Given the description of an element on the screen output the (x, y) to click on. 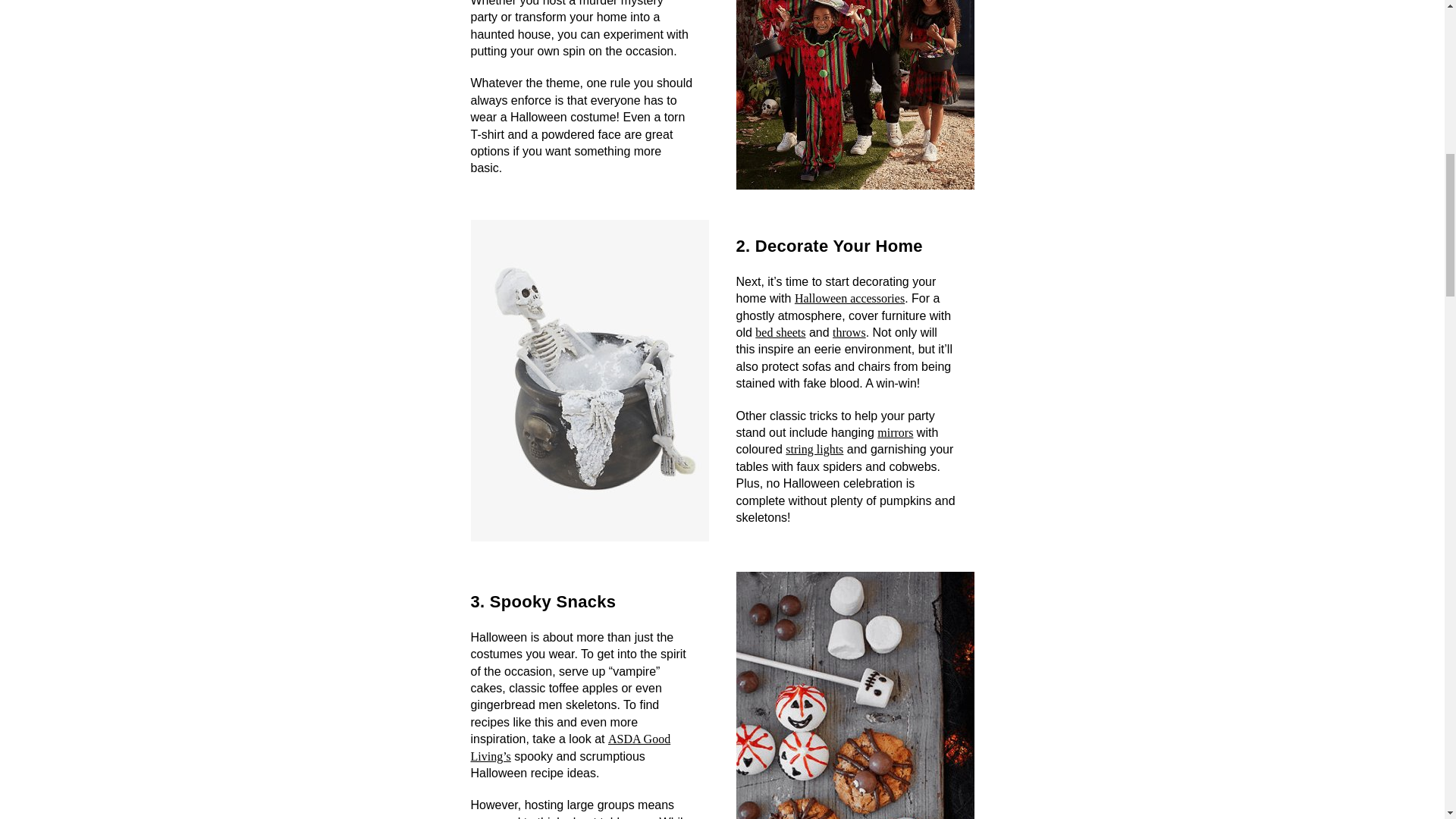
bed sheets (780, 332)
throws (849, 332)
string lights (814, 449)
mirrors (894, 431)
Halloween accessories (849, 297)
